Given the description of an element on the screen output the (x, y) to click on. 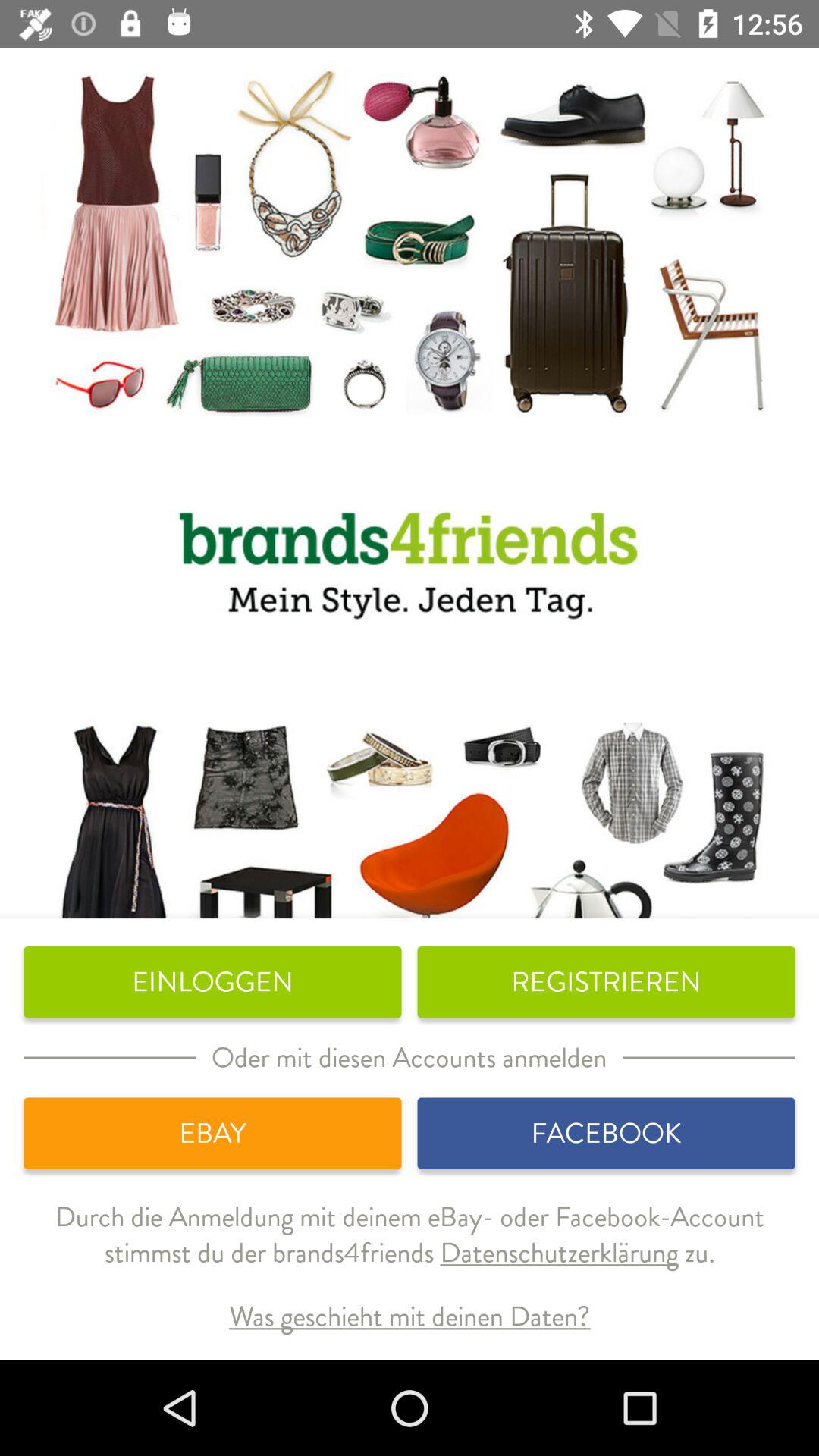
flip until the registrieren icon (606, 982)
